Given the description of an element on the screen output the (x, y) to click on. 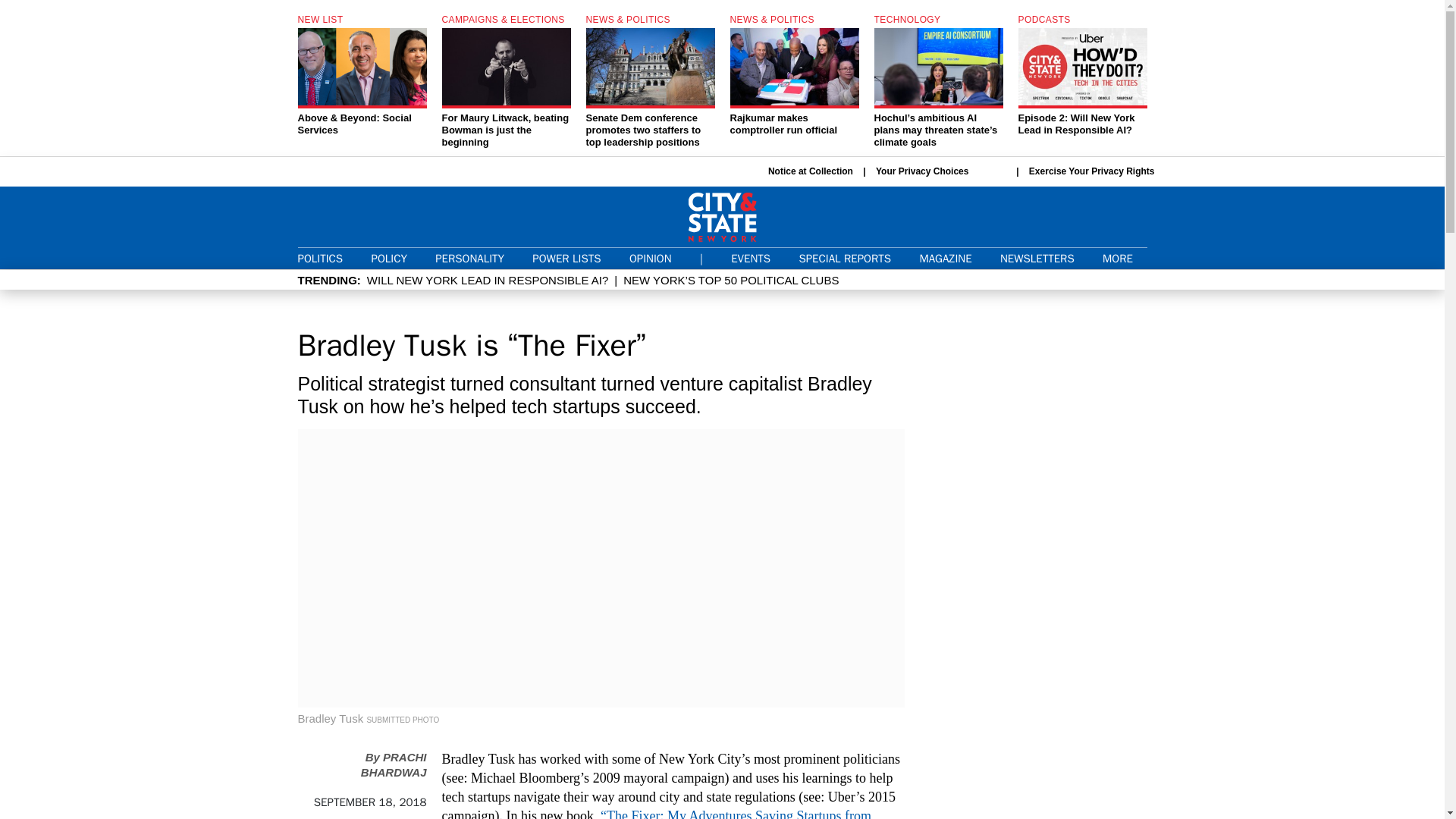
MAGAZINE (944, 258)
SPECIAL REPORTS (844, 258)
NEWSLETTERS (1037, 258)
POWER LISTS (565, 258)
Exercise Your Privacy Rights (1091, 171)
Your Privacy Choices (941, 171)
Notice at Collection (810, 171)
MORE (1124, 258)
OPINION (649, 258)
EVENTS (750, 258)
